Given the description of an element on the screen output the (x, y) to click on. 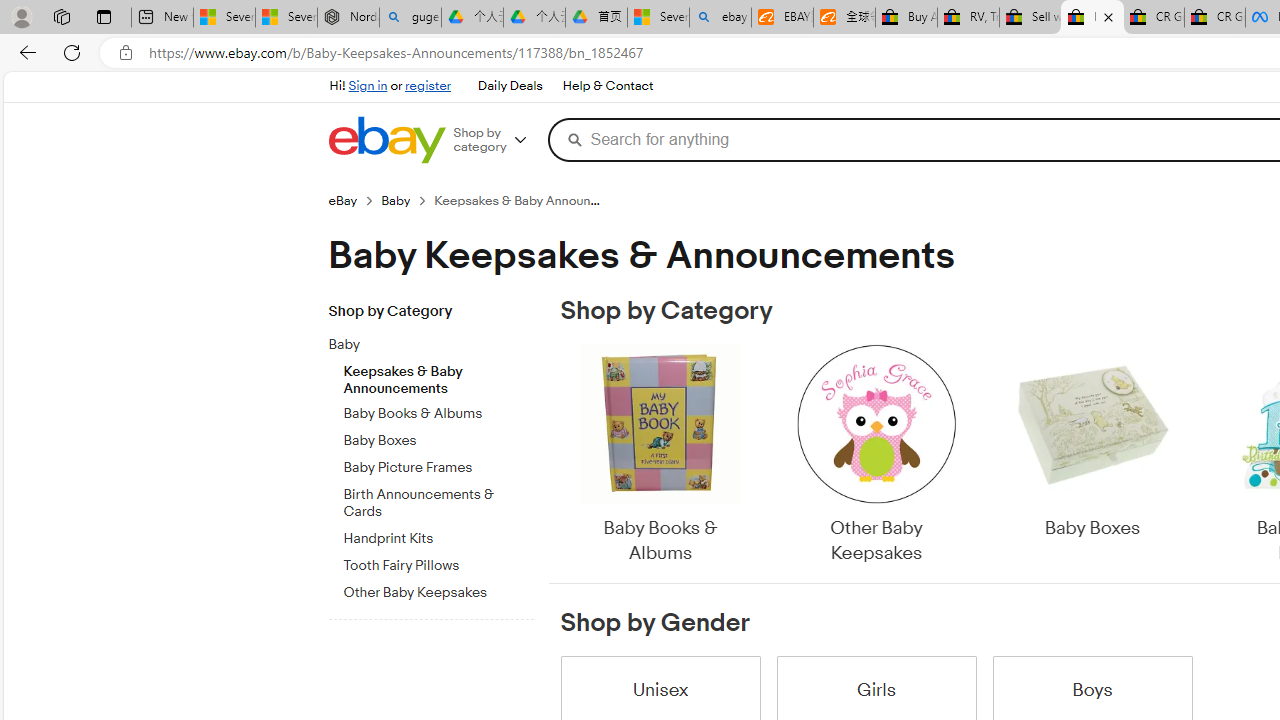
Baby Picture Frames (438, 464)
Baby Boxes (1092, 455)
Baby (422, 345)
eBay (354, 200)
Handprint Kits (438, 538)
Baby Books & Albums (660, 455)
Help & Contact (607, 86)
